Given the description of an element on the screen output the (x, y) to click on. 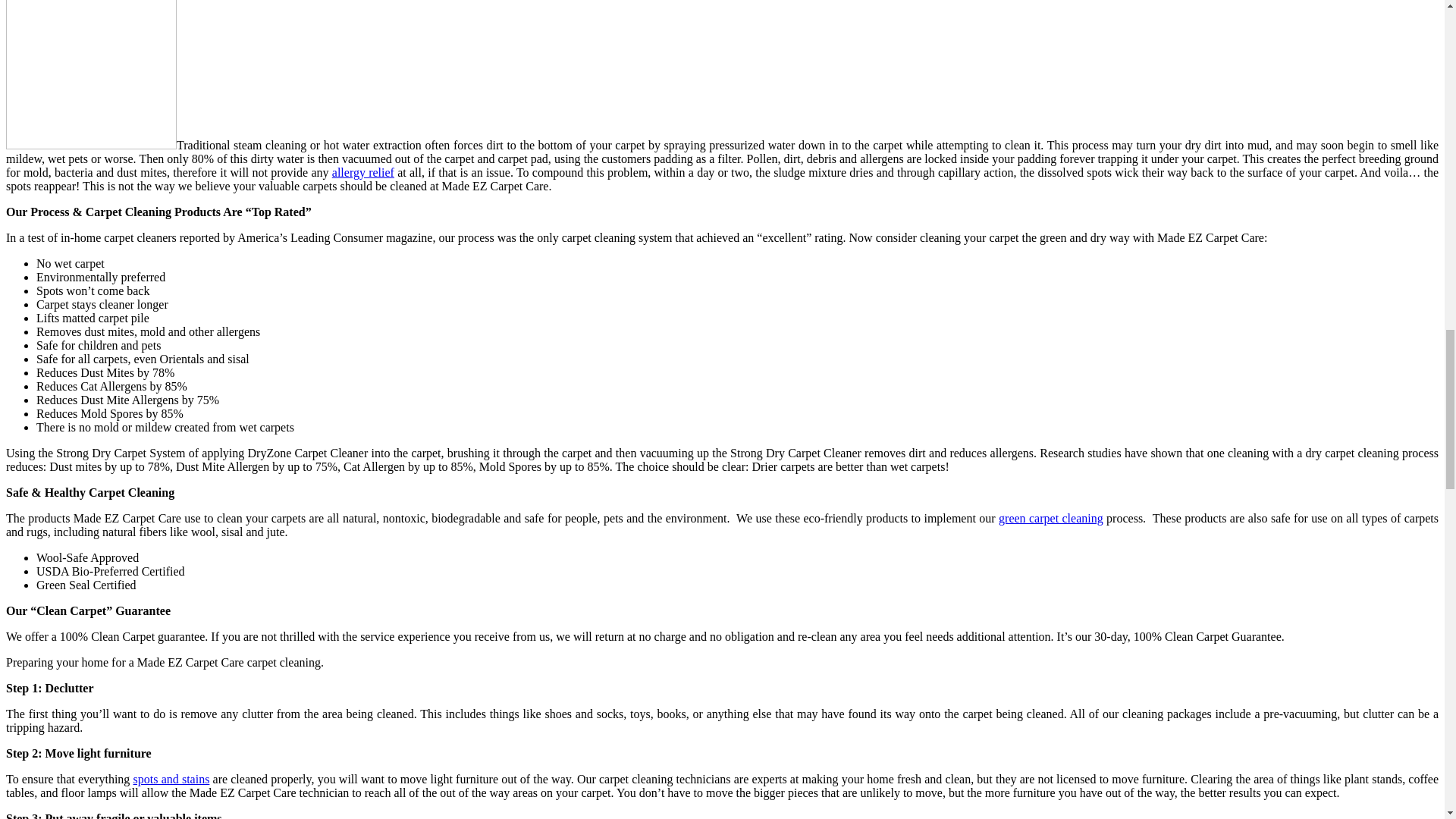
allergy relief (362, 172)
